Given the description of an element on the screen output the (x, y) to click on. 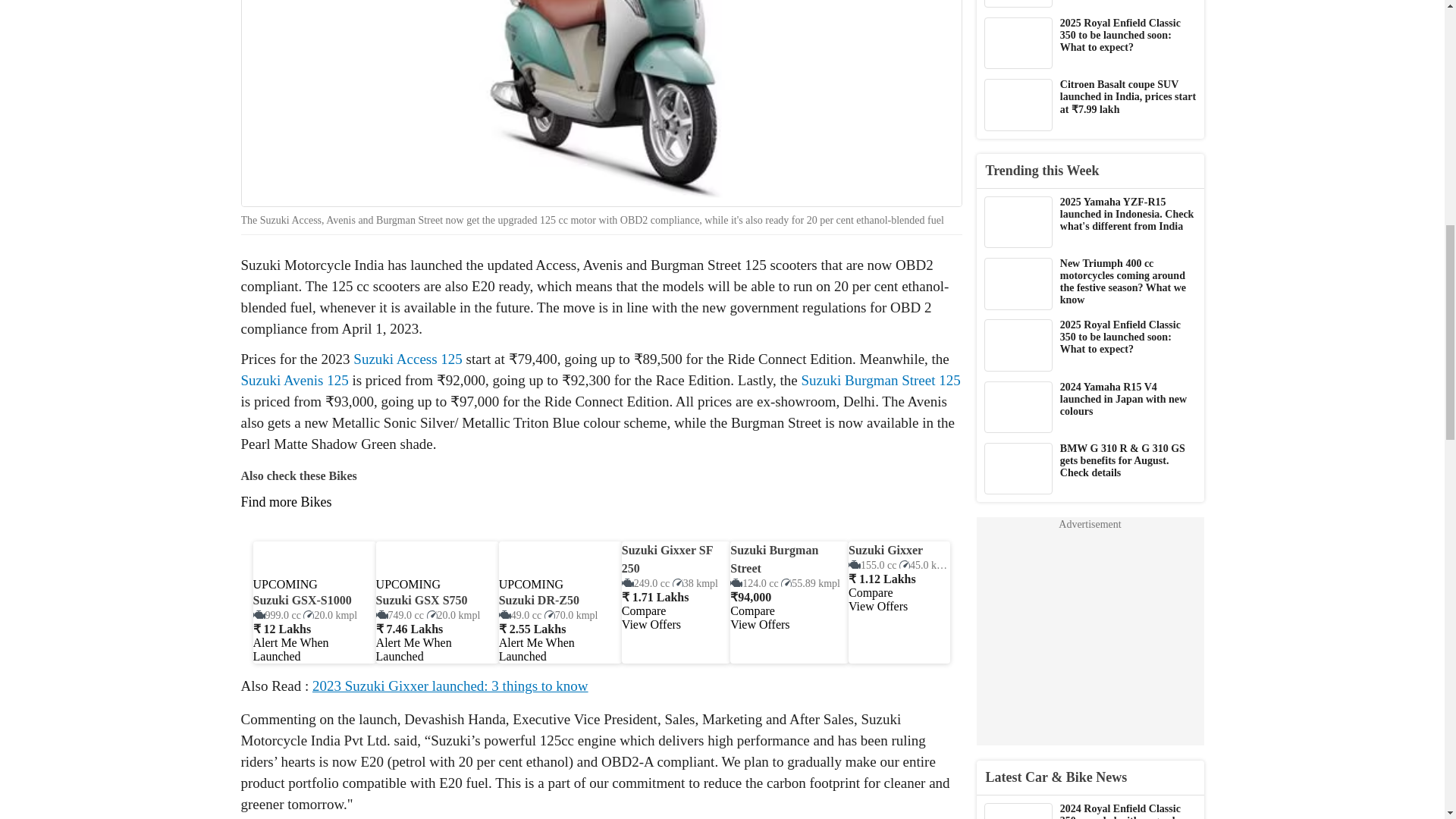
Mileage (329, 614)
Engine (645, 583)
Mileage (571, 614)
Engine (520, 614)
Engine (277, 614)
Mileage (694, 583)
Engine (753, 583)
Mileage (810, 583)
Mileage (453, 614)
Engine (399, 614)
